Given the description of an element on the screen output the (x, y) to click on. 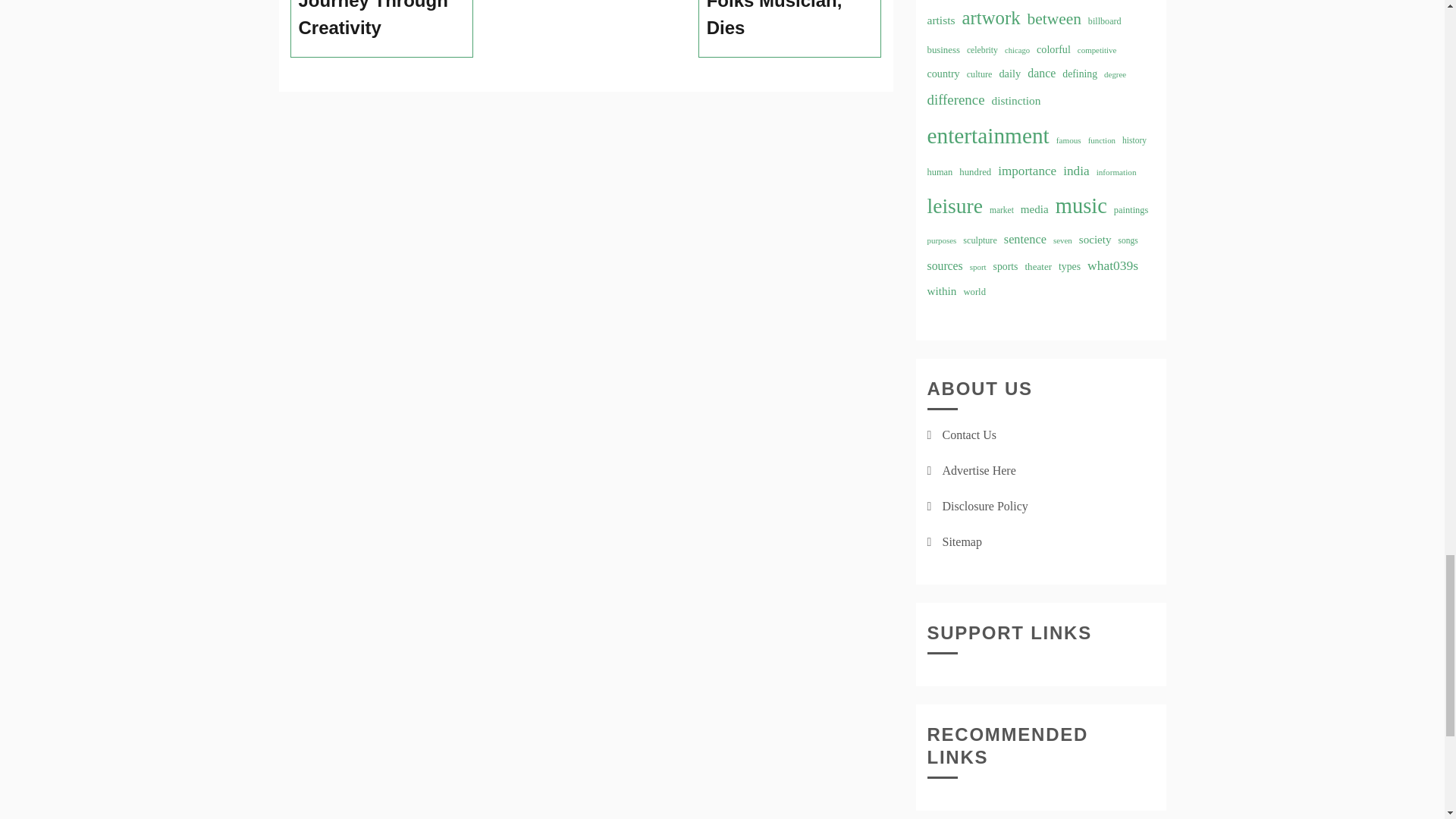
Artwork Thieme, Longtime Chicago Folks Musician, Dies (789, 20)
The Essence of Colorful Arts: A Journey Through Creativity (381, 20)
